Given the description of an element on the screen output the (x, y) to click on. 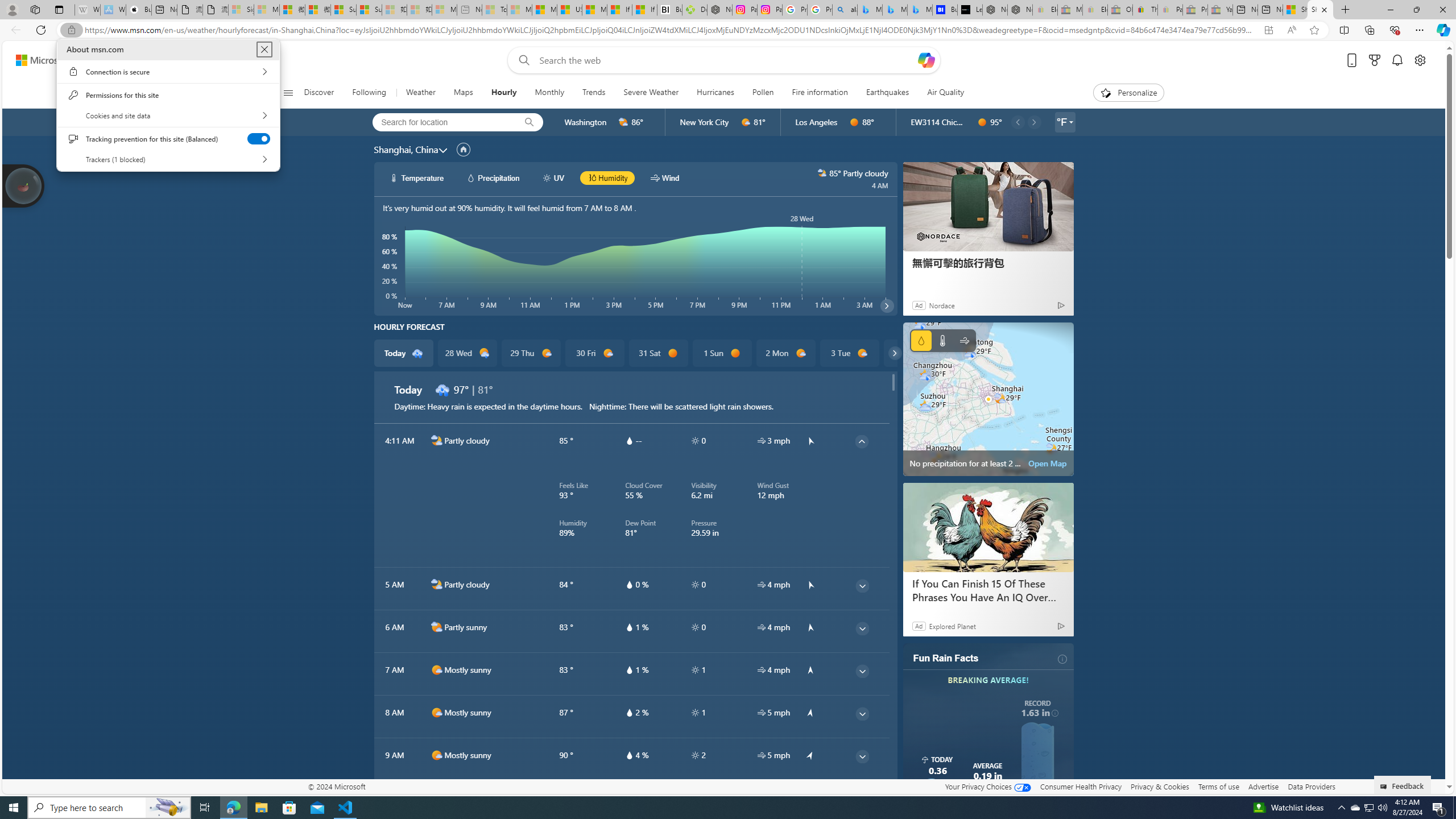
28 Wed d2100 (466, 352)
Search highlights icon opens search home window (167, 807)
Microsoft rewards (1374, 60)
Terms of use (1218, 786)
Open settings (1420, 60)
Trends (593, 92)
hourlyChart/precipitationWhite (470, 177)
Hourly (503, 92)
